Given the description of an element on the screen output the (x, y) to click on. 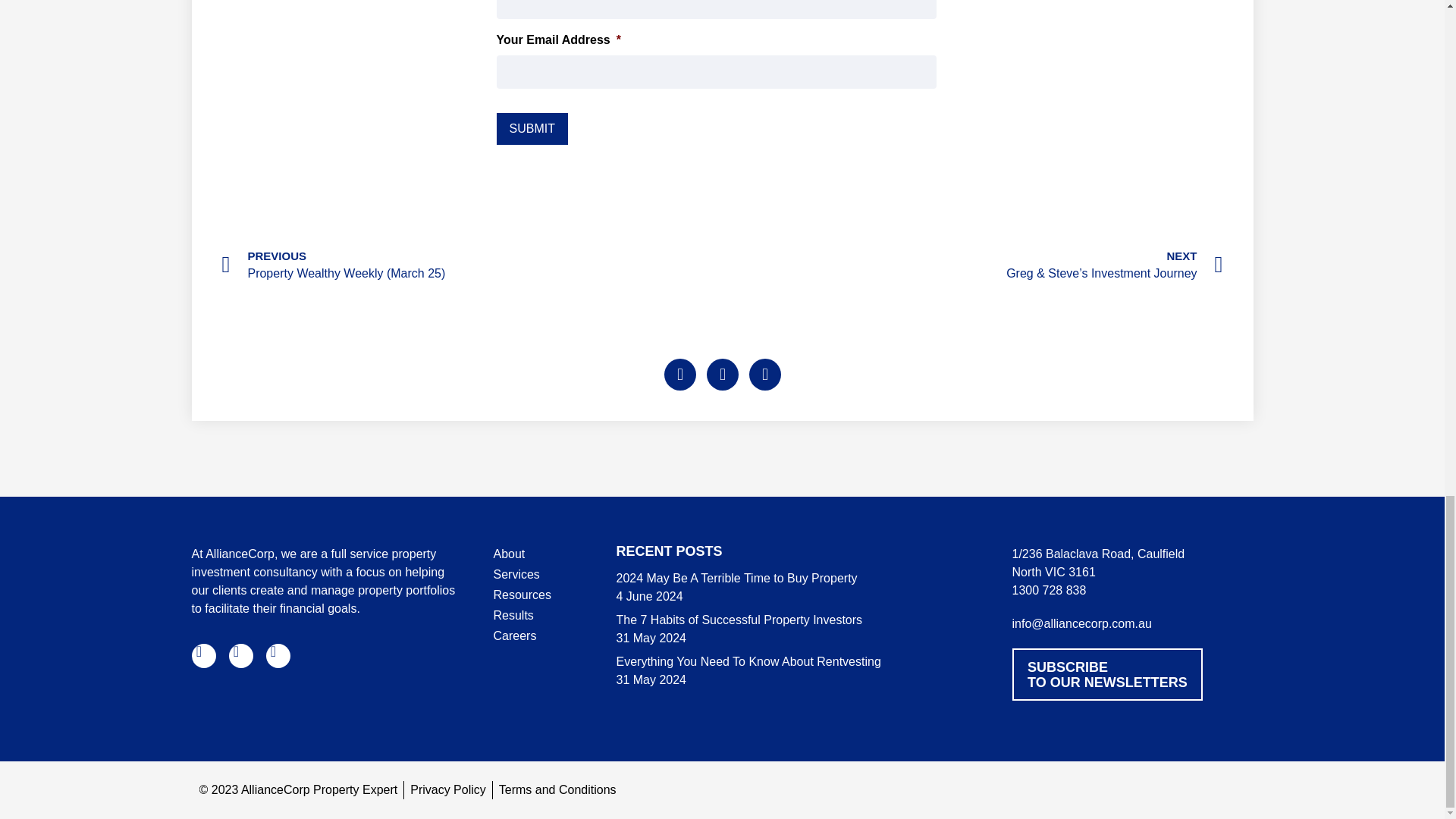
Submit (531, 128)
